Given the description of an element on the screen output the (x, y) to click on. 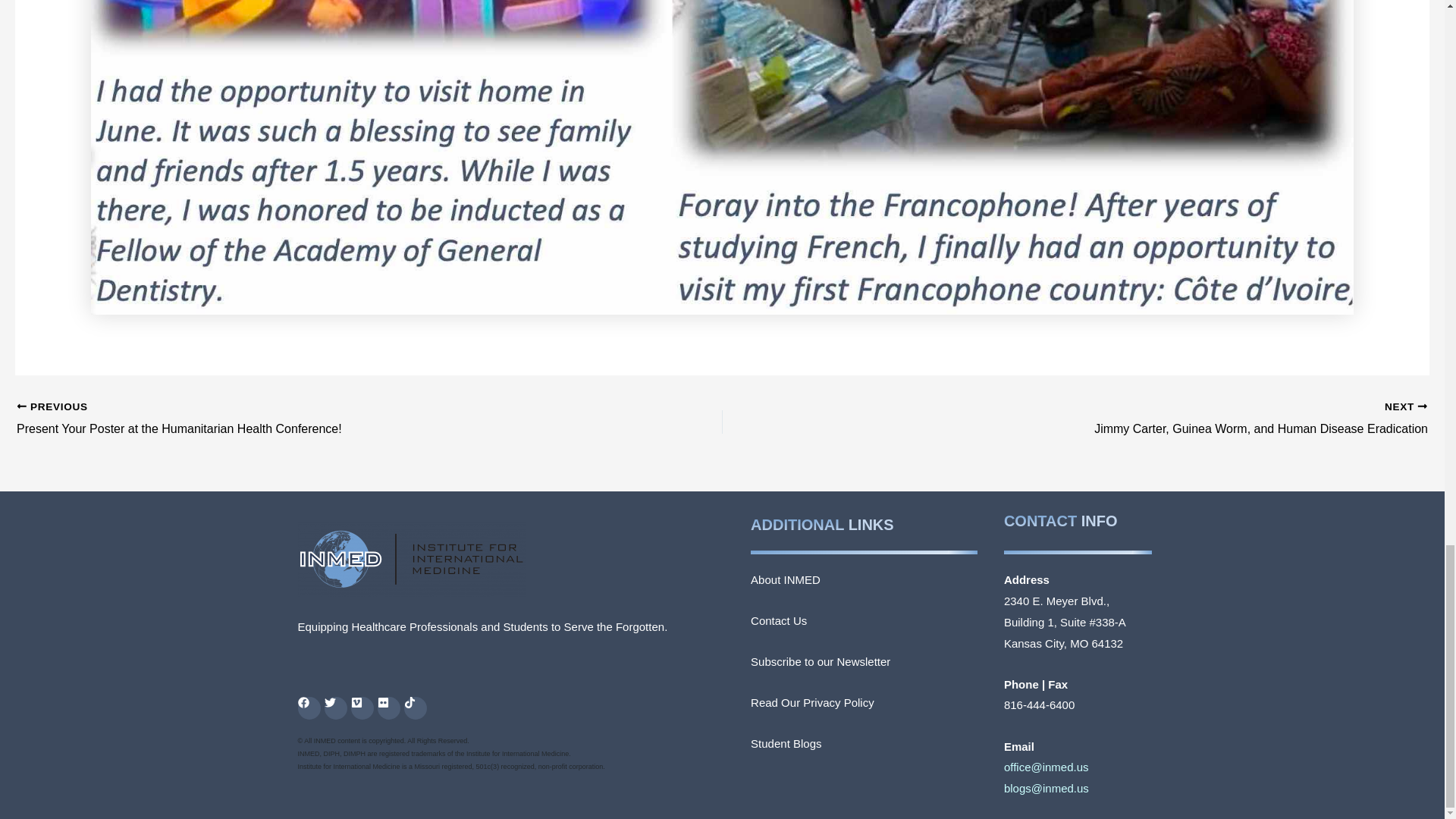
Jimmy Carter, Guinea Worm, and Human Disease Eradication (1144, 418)
Present Your Poster at the Humanitarian Health Conference! (299, 418)
